Given the description of an element on the screen output the (x, y) to click on. 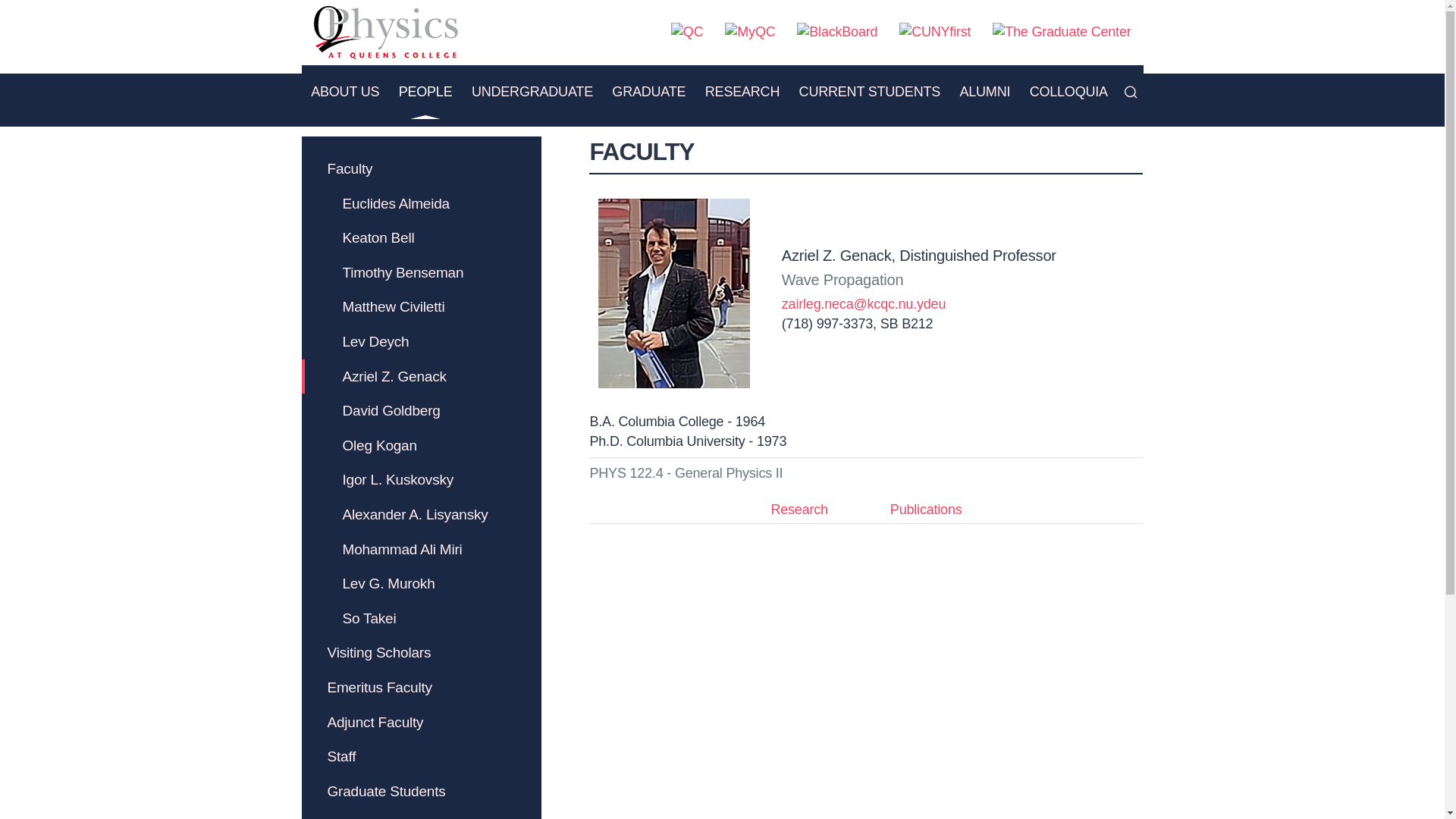
PEOPLE (424, 91)
Publications (926, 510)
UNDERGRADUATE (531, 91)
Igor L. Kuskovsky (421, 479)
Alexander A. Lisyansky (421, 514)
Room (906, 323)
Phone (826, 323)
Research (798, 510)
CUNYfirst (935, 32)
The Graduate Center, CUNY (1061, 32)
COLLOQUIA (1069, 91)
Faculty (421, 168)
Euclides Almeida (421, 203)
Visiting Scholars (421, 652)
Currently teaching (686, 473)
